Given the description of an element on the screen output the (x, y) to click on. 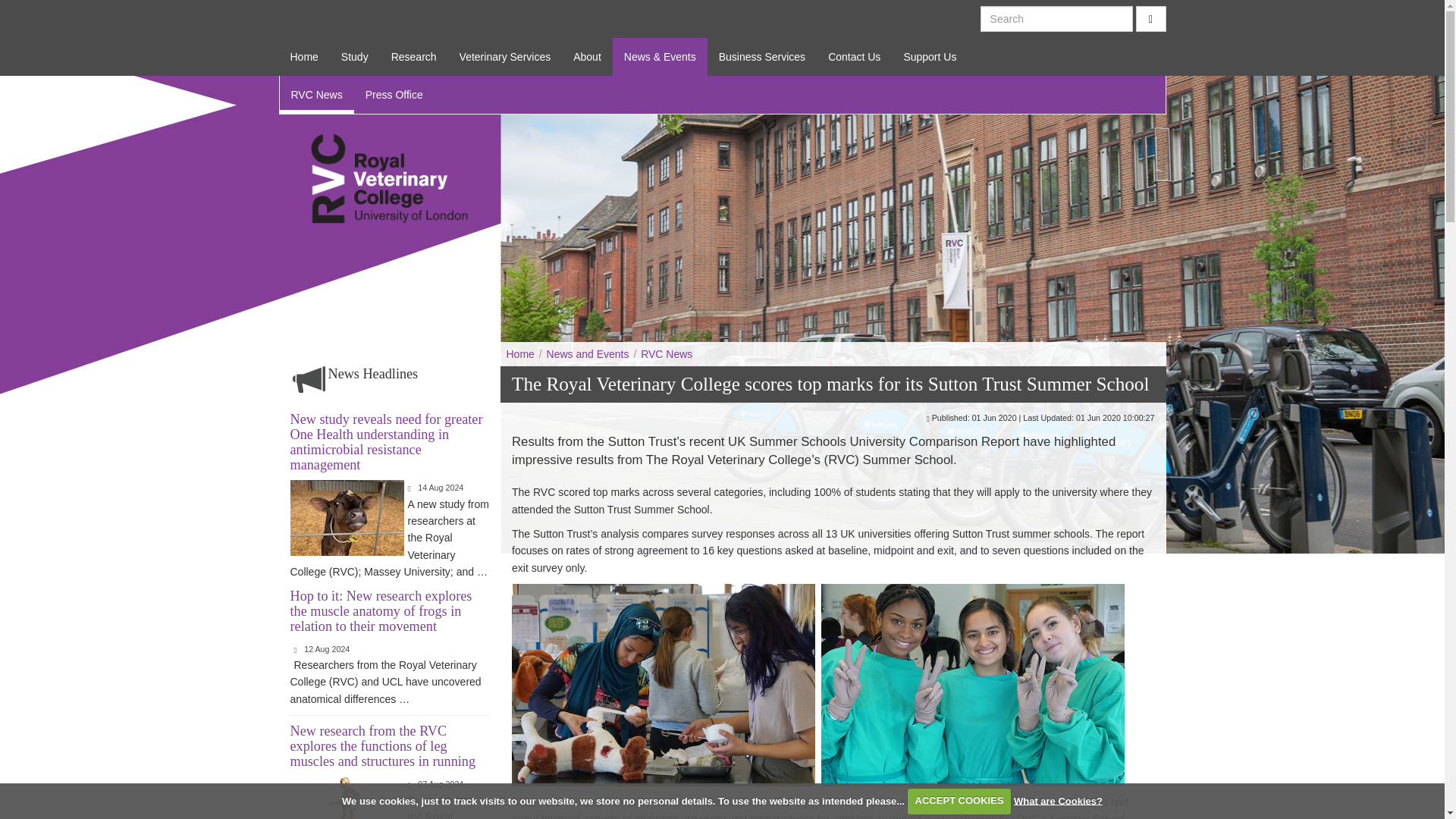
search (1150, 18)
Support Us (929, 56)
Veterinary Services (505, 56)
Study (355, 56)
Contact Us (853, 56)
News and Events (587, 354)
Press Office (393, 94)
